Given the description of an element on the screen output the (x, y) to click on. 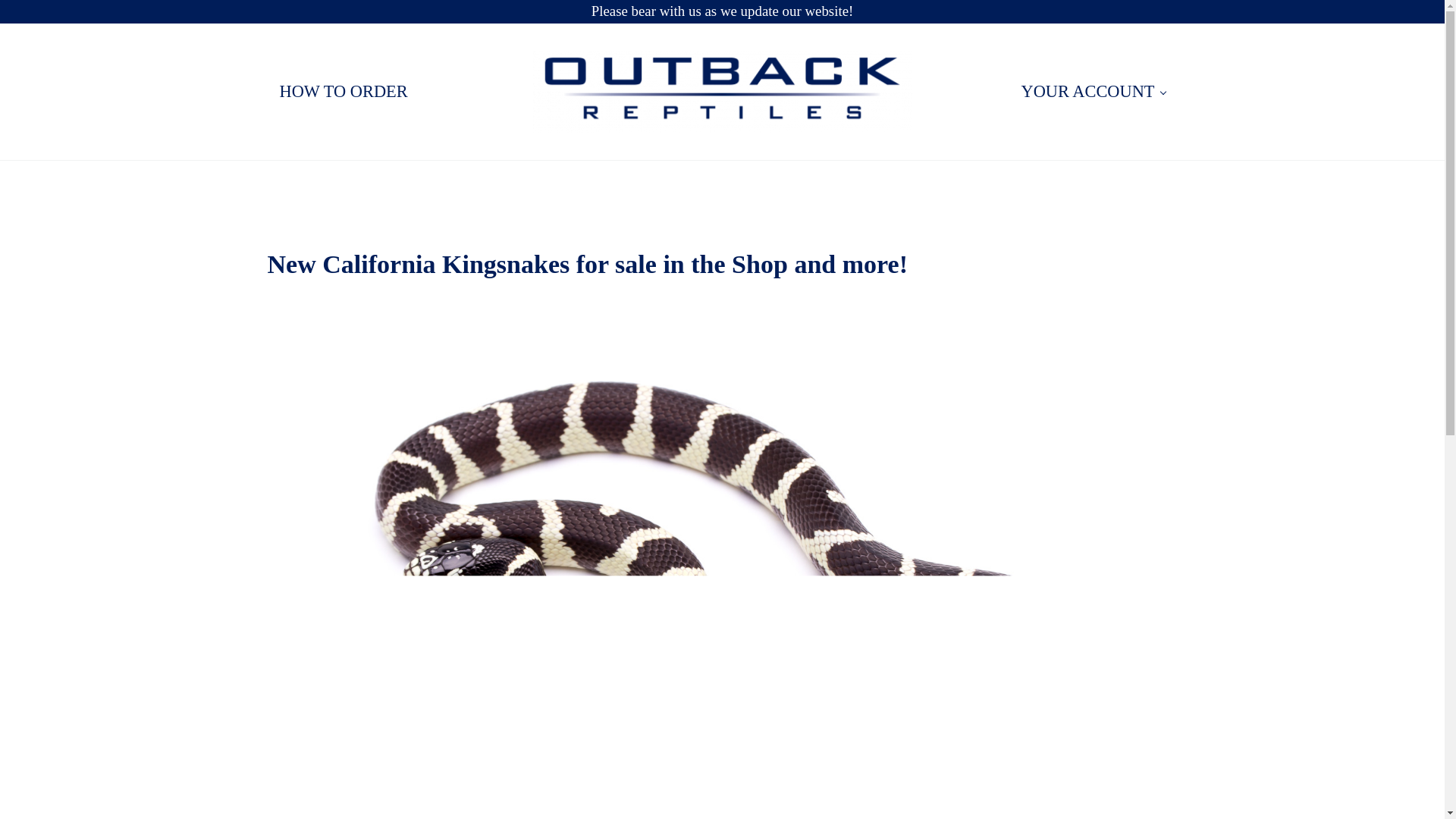
ABOUT US (829, 184)
HOW TO ORDER (342, 90)
YOUR ACCOUNT (1092, 90)
CART (1126, 184)
CARE GUIDES (990, 184)
HOME (320, 184)
REPTILES FOR SALE (489, 184)
PROJECTS (678, 184)
